Given the description of an element on the screen output the (x, y) to click on. 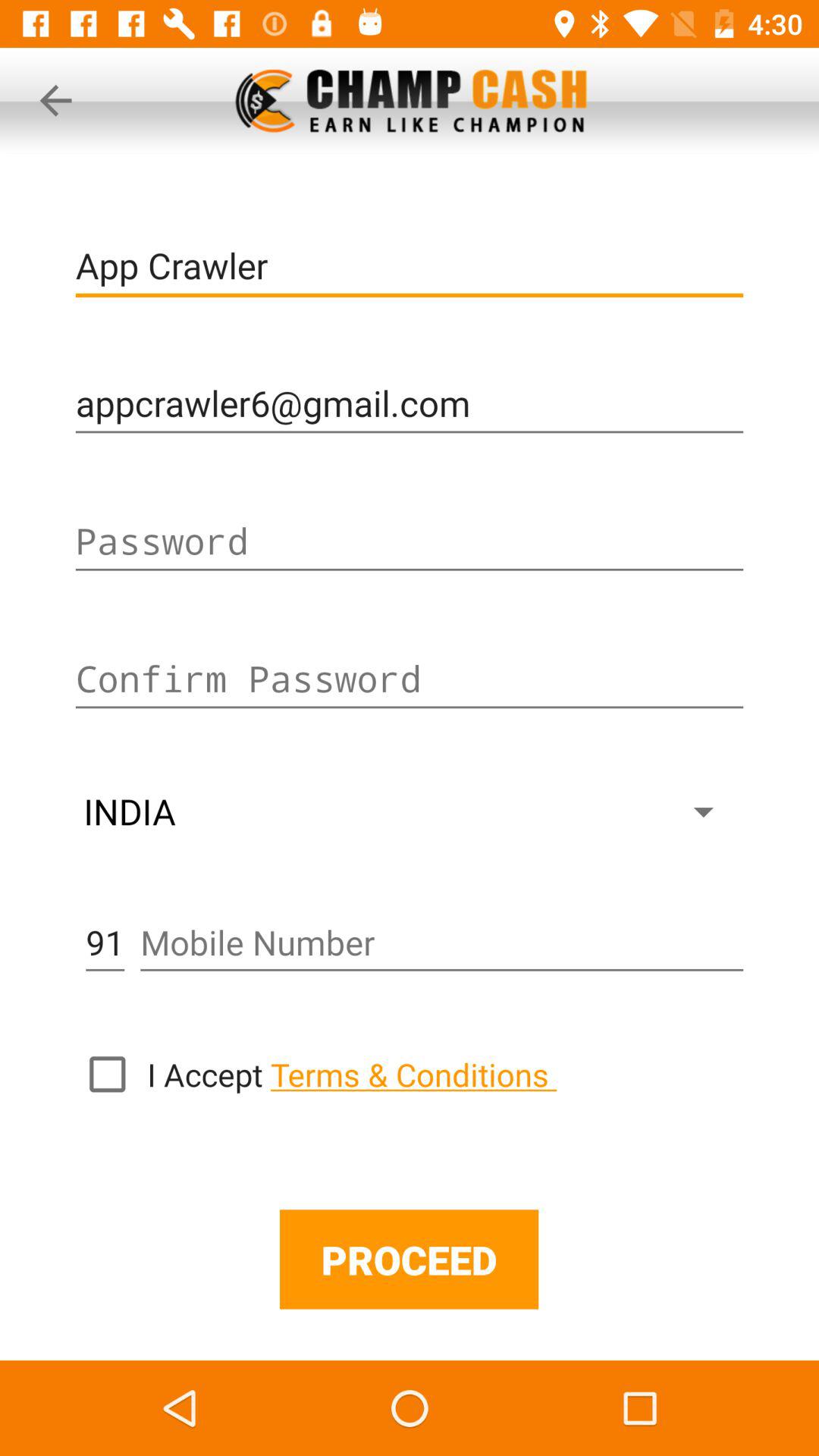
mobile number (441, 942)
